Given the description of an element on the screen output the (x, y) to click on. 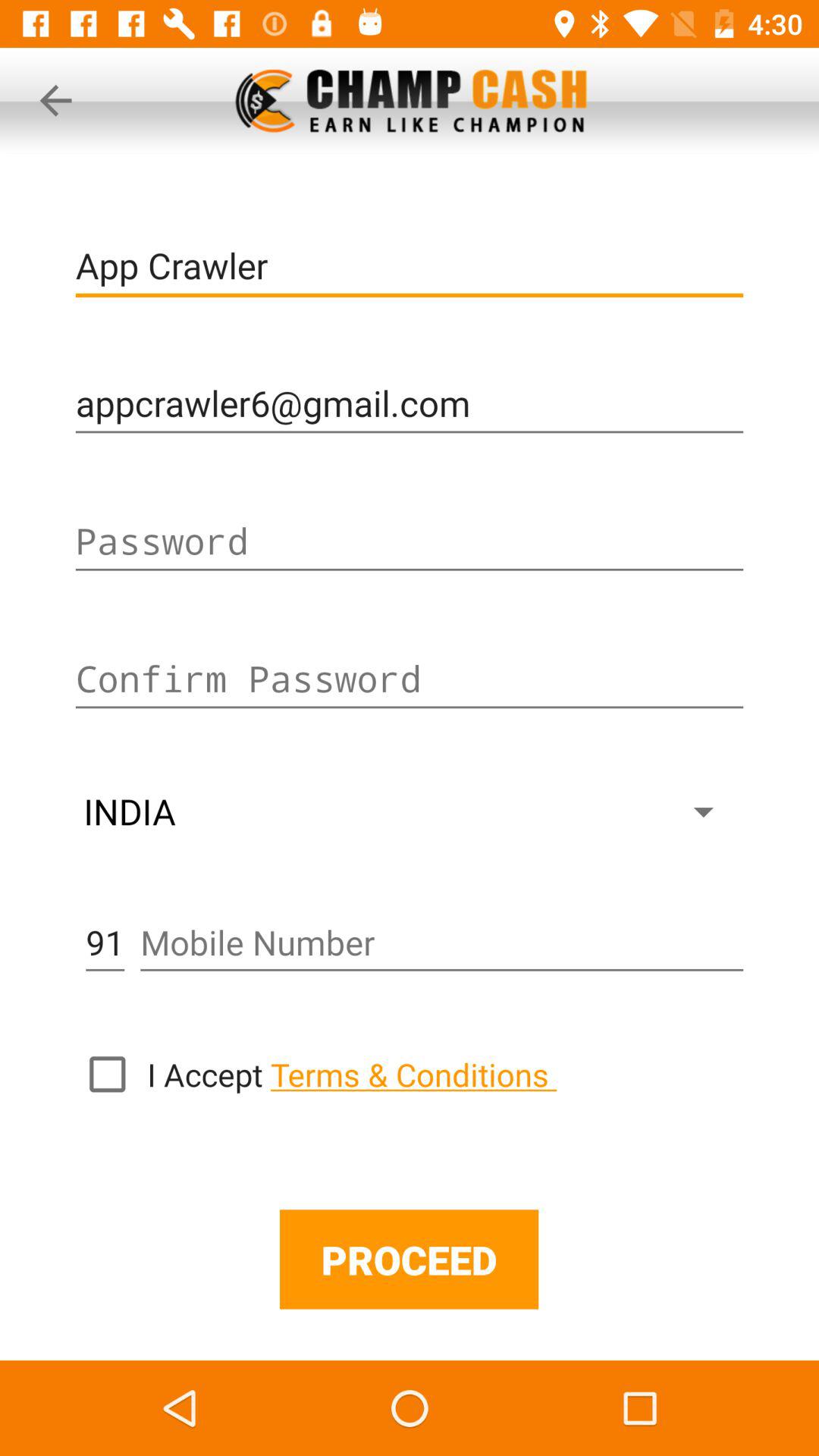
mobile number (441, 942)
